Given the description of an element on the screen output the (x, y) to click on. 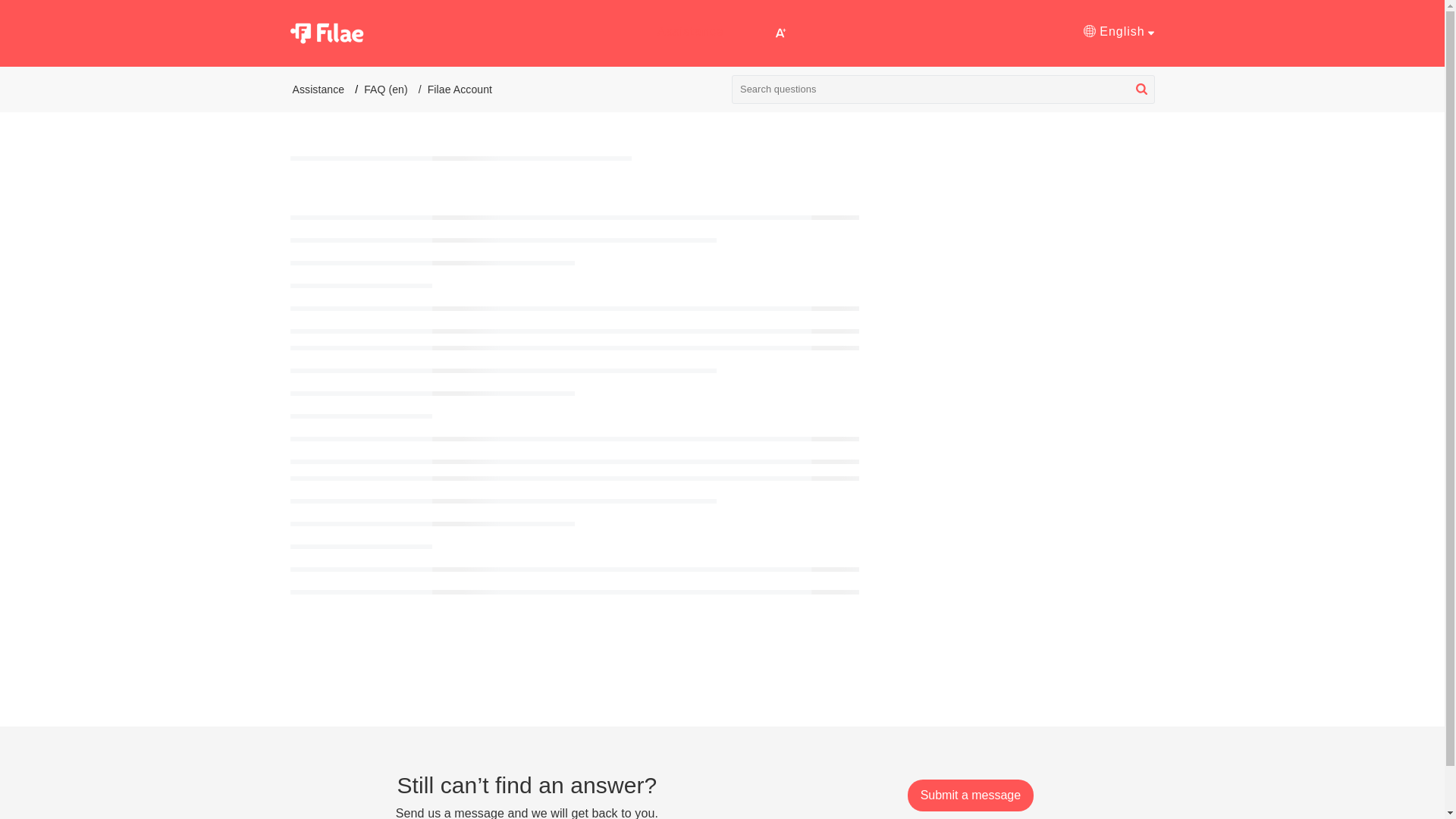
Submit a message (970, 794)
Assistance (690, 31)
Assistance (690, 33)
Assistance (318, 89)
English (1118, 31)
Filae Account (460, 89)
Submit a message (970, 795)
